Given the description of an element on the screen output the (x, y) to click on. 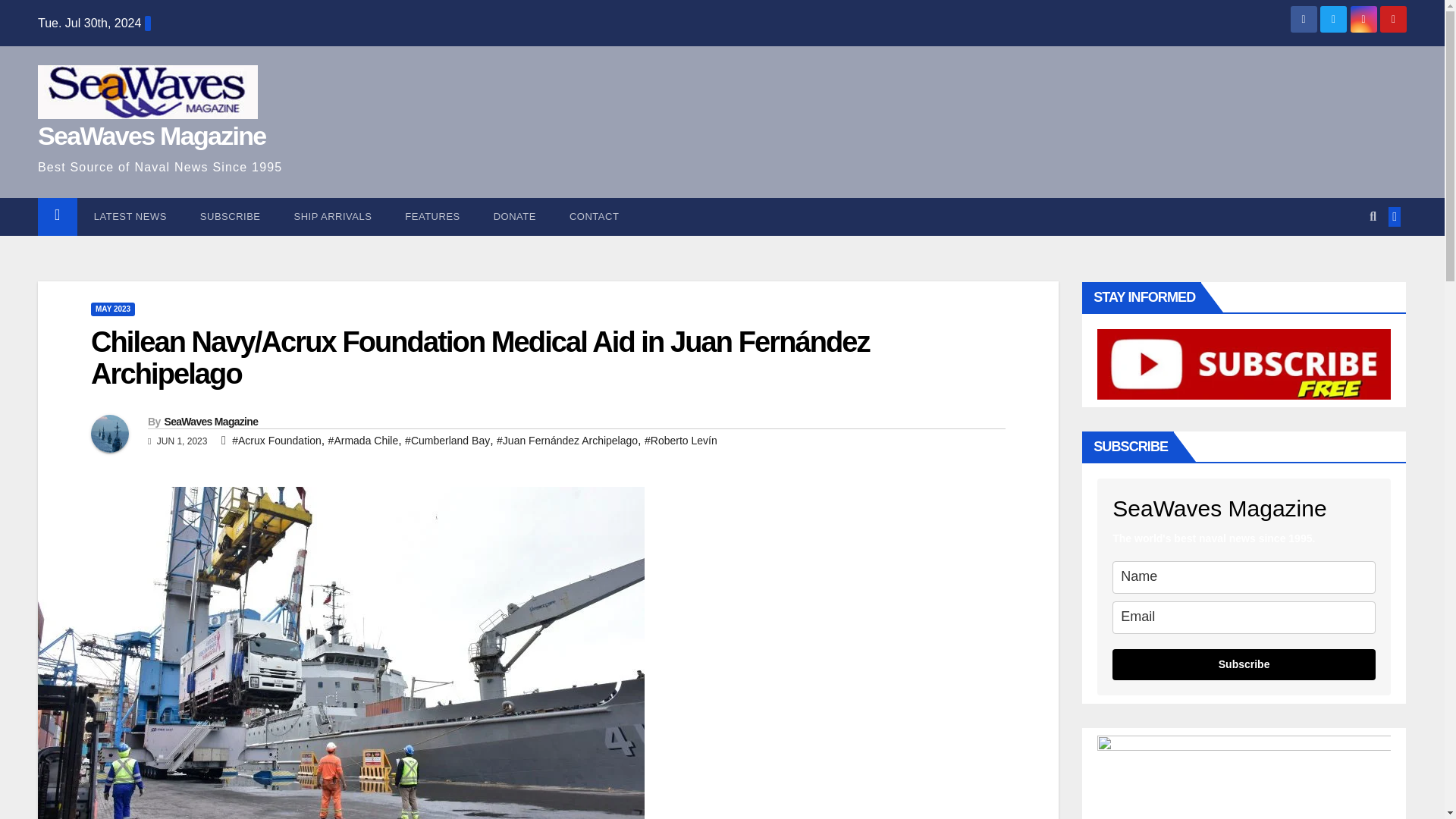
SHIP ARRIVALS (333, 216)
Ship Arrivals (333, 216)
SeaWaves Magazine (151, 135)
SUBSCRIBE (230, 216)
LATEST NEWS (130, 216)
FEATURES (432, 216)
Features (432, 216)
Subscribe (230, 216)
Latest News (130, 216)
